Given the description of an element on the screen output the (x, y) to click on. 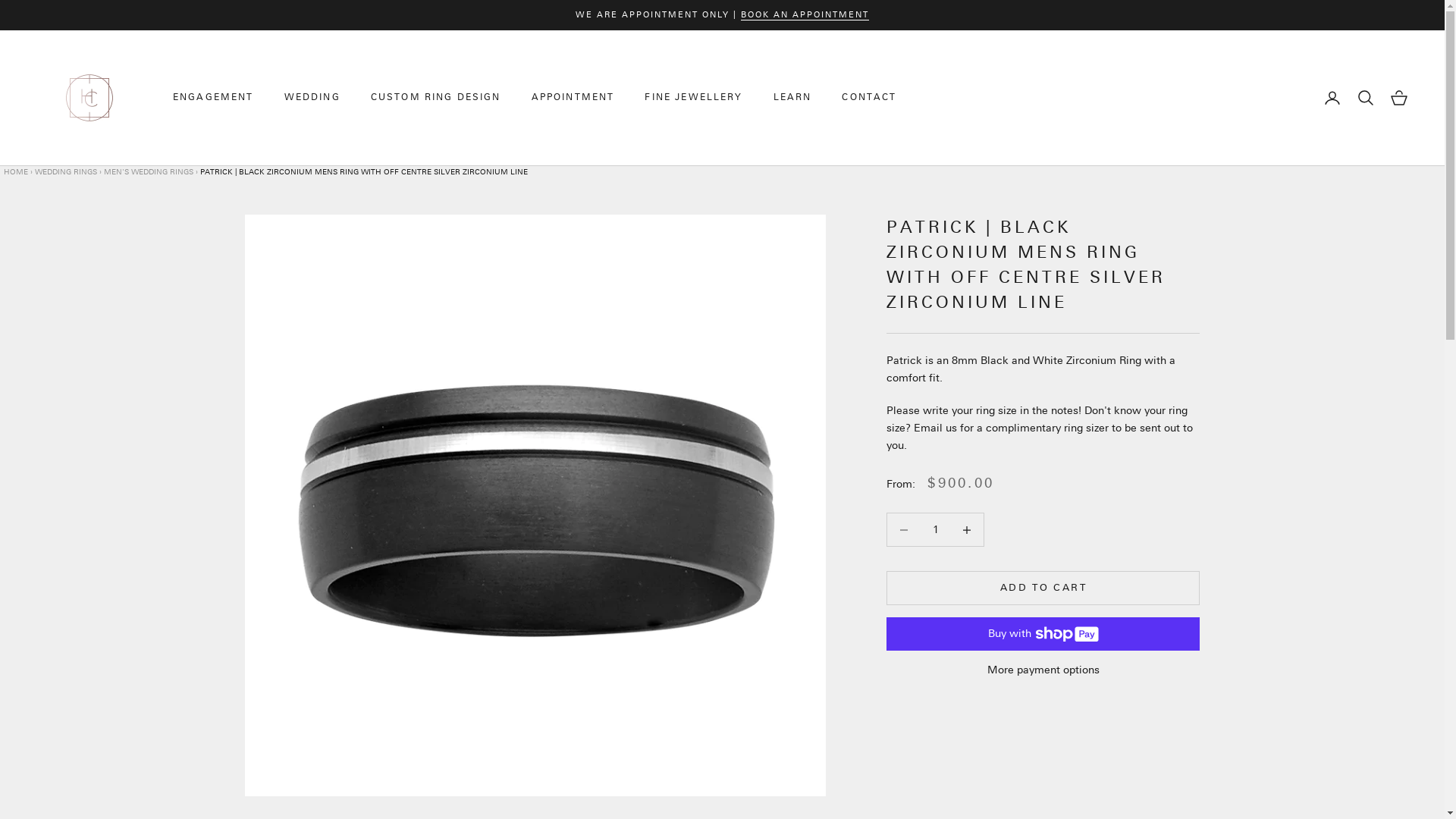
Open cart Element type: text (1399, 97)
WEDDING RINGS Element type: text (65, 171)
More payment options Element type: text (1042, 669)
MEN'S WEDDING RINGS Element type: text (148, 171)
BOOK AN APPOINTMENT Element type: text (804, 14)
Open account page Element type: text (1332, 97)
HOME Element type: text (16, 171)
APPOINTMENT Element type: text (573, 97)
ADD TO CART Element type: text (1042, 587)
Decrease quantity Element type: text (966, 529)
Harry & Co Jewellery Element type: text (89, 97)
Decrease quantity Element type: text (903, 529)
Open search Element type: text (1365, 97)
